Given the description of an element on the screen output the (x, y) to click on. 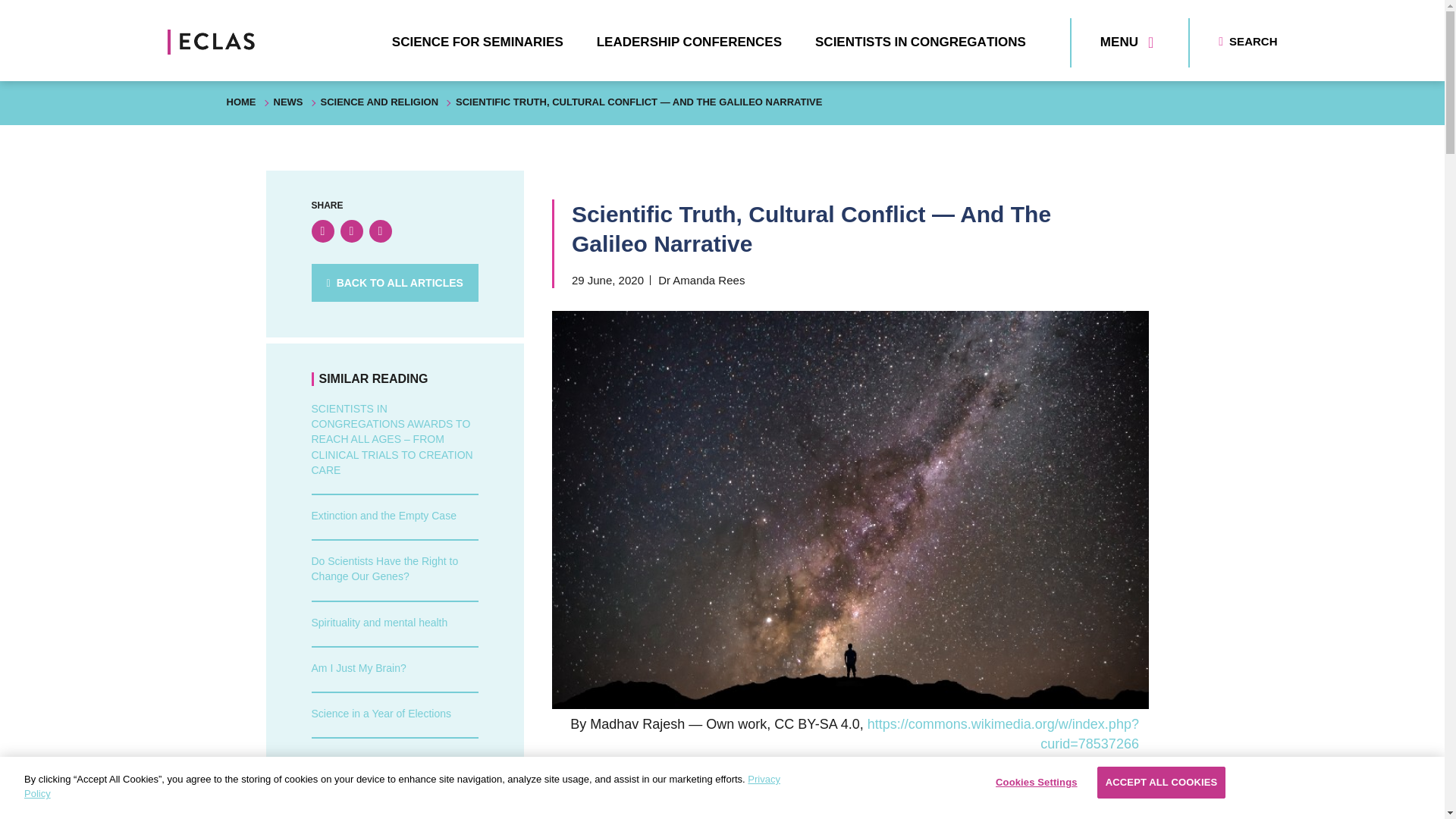
Go to News. (287, 101)
Do Scientists Have the Right to Change Our Genes? (384, 568)
HOME (240, 101)
Extinction and the Empty Case (383, 515)
NEWS (287, 101)
Spirituality and mental health (378, 622)
BACK TO ALL ARTICLES (394, 282)
LEADERSHIP CONFERENCES (688, 42)
SEARCH (1247, 41)
Go to the SCIENCE AND RELIGION category archives. (379, 101)
SCIENCE AND RELIGION (379, 101)
SCIENCE FOR SEMINARIES (477, 42)
MENU (1126, 42)
SCIENTISTS IN CONGREGATIONS (920, 42)
Go to Home. (240, 101)
